Given the description of an element on the screen output the (x, y) to click on. 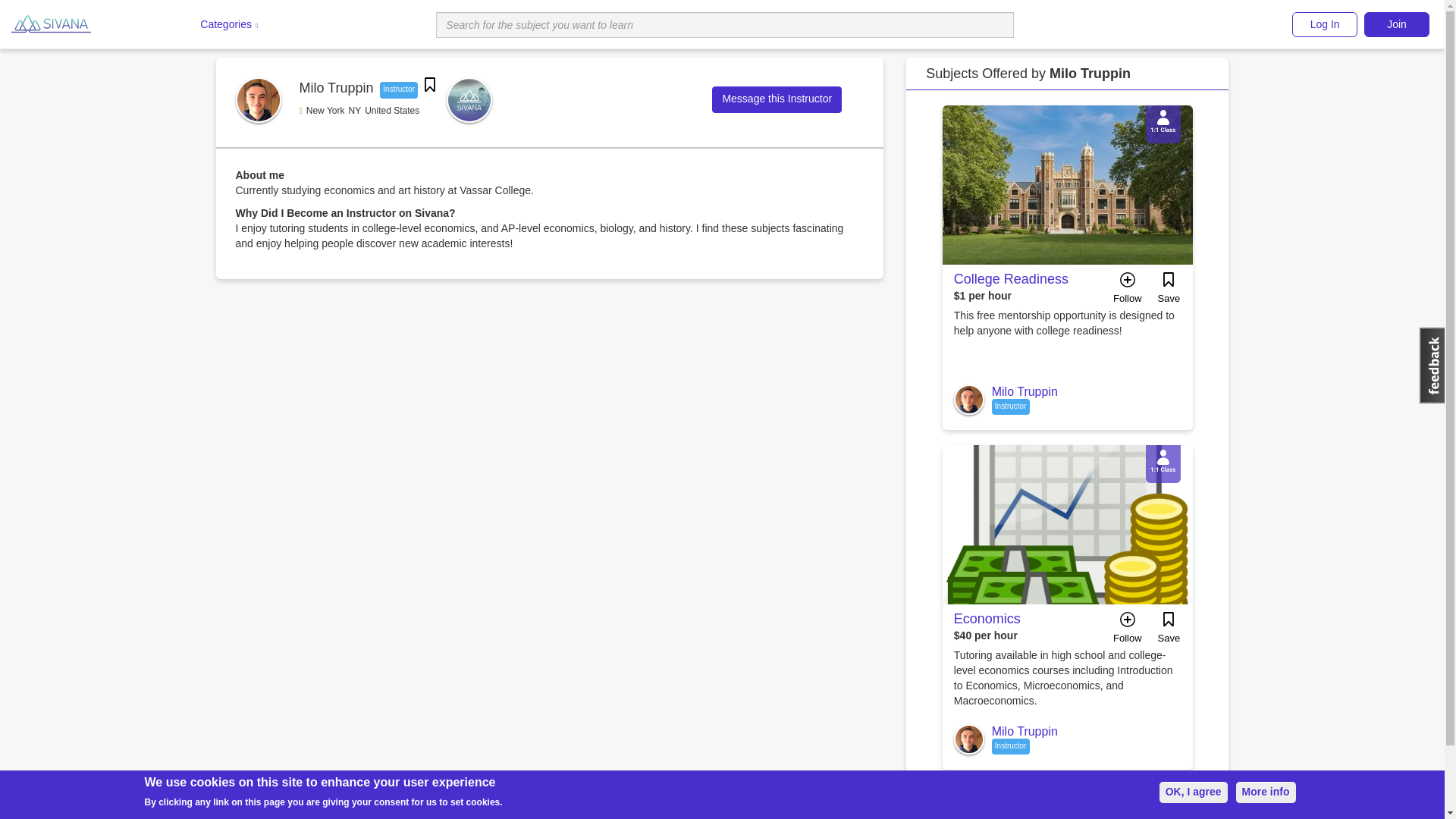
Add Bookmark (1168, 632)
Economics (986, 618)
Categories (226, 24)
Save (1168, 292)
Message this Instructor (776, 99)
Milo Truppin (1024, 730)
Add Bookmark (430, 85)
Log In (1324, 24)
The Sivana Team (469, 99)
Follow (1127, 632)
Save (1168, 632)
Join (1396, 24)
Milo Truppin (1024, 391)
College Readiness (1010, 278)
Add Bookmark (1168, 292)
